Given the description of an element on the screen output the (x, y) to click on. 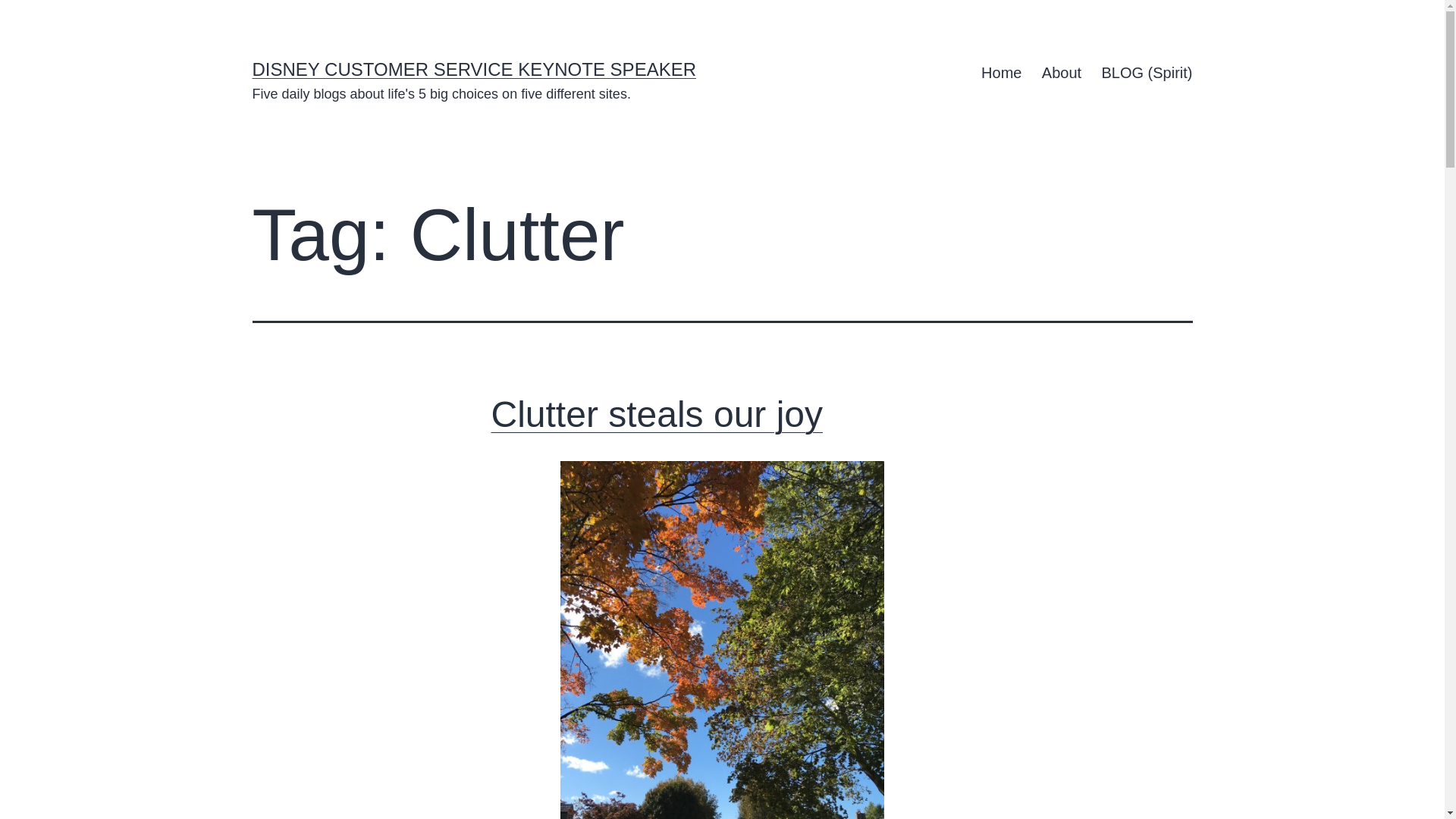
Clutter steals our joy (658, 413)
Home (1001, 72)
DISNEY CUSTOMER SERVICE KEYNOTE SPEAKER (473, 68)
About (1062, 72)
